Given the description of an element on the screen output the (x, y) to click on. 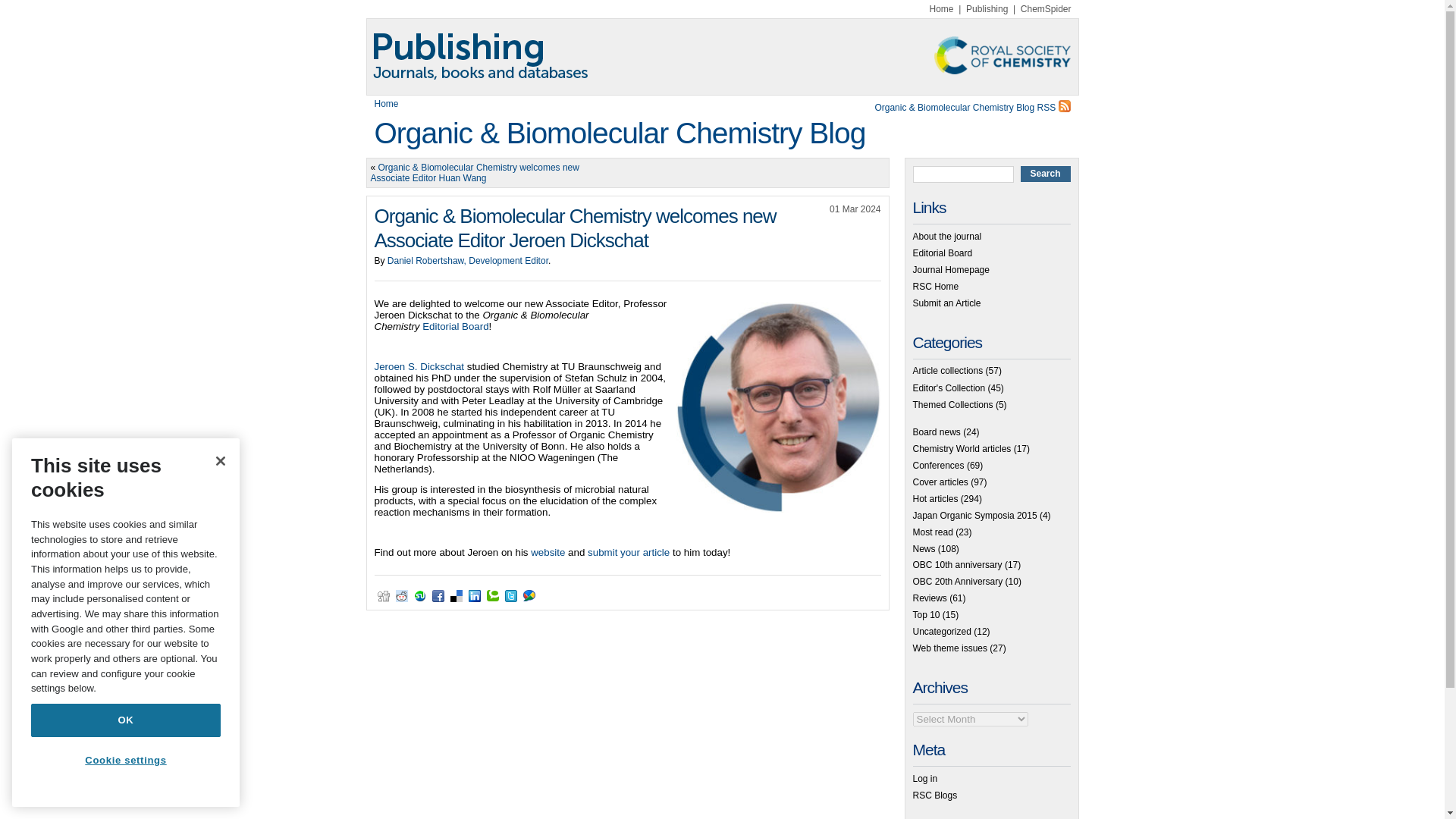
Article collections (948, 370)
Home (941, 9)
Conferences (937, 465)
Editorial Board (942, 253)
Daniel Robertshaw, Development Editor (467, 260)
Jeroen S. Dickschat (419, 366)
website (547, 552)
ChemSpider (1045, 9)
Editor's Collection (948, 388)
RSS 2.0 (899, 105)
